Given the description of an element on the screen output the (x, y) to click on. 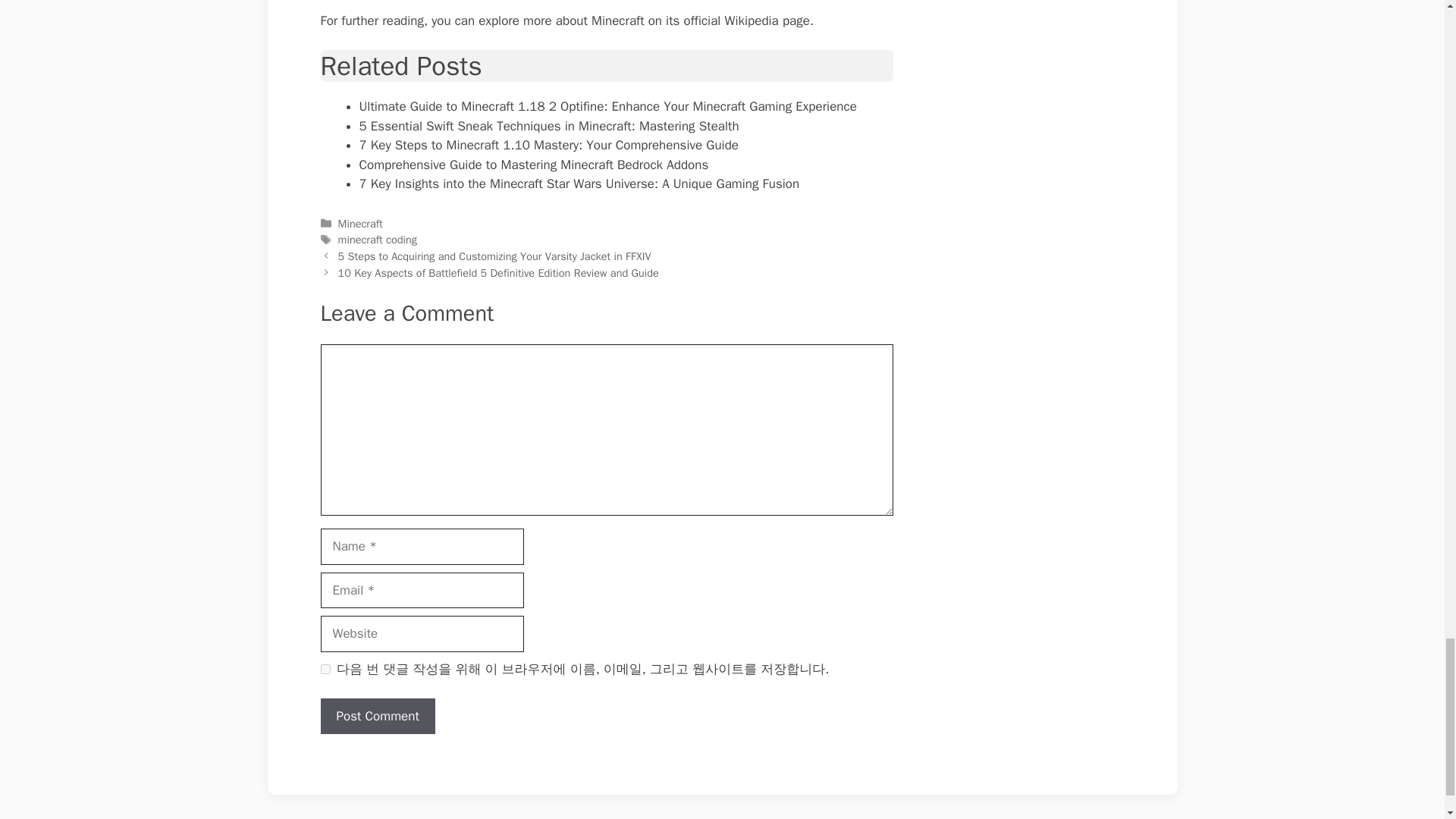
Comprehensive Guide to Mastering Minecraft Bedrock Addons (534, 164)
Minecraft (359, 223)
minecraft coding (376, 239)
Post Comment (376, 716)
Post Comment (376, 716)
Wikipedia page (767, 20)
